Given the description of an element on the screen output the (x, y) to click on. 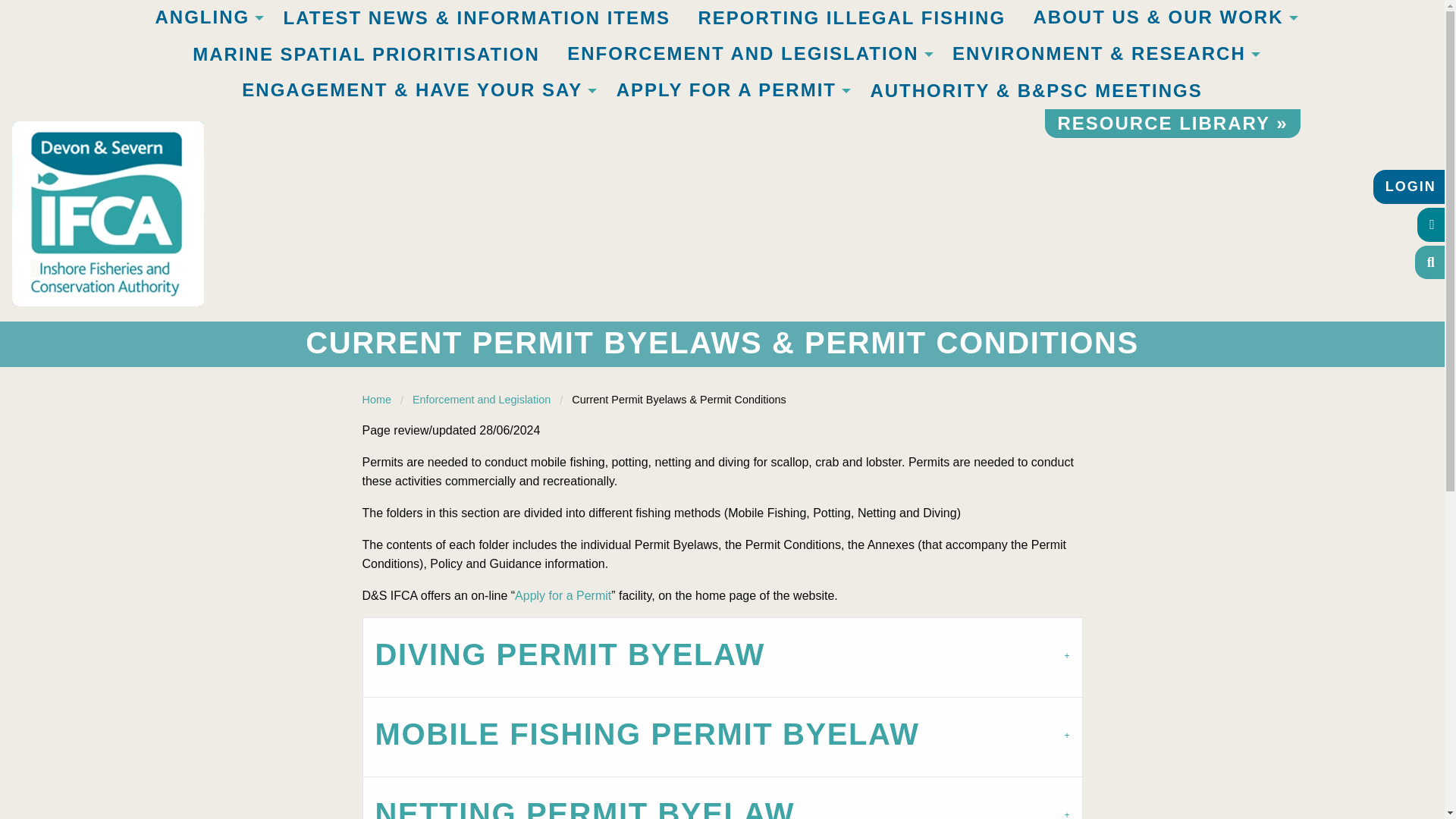
MARINE SPATIAL PRIORITISATION (365, 54)
Reporting Illegal Fishing (851, 18)
REPORTING ILLEGAL FISHING (851, 18)
ENFORCEMENT AND LEGISLATION (745, 54)
Angling (204, 18)
ANGLING (204, 18)
